Given the description of an element on the screen output the (x, y) to click on. 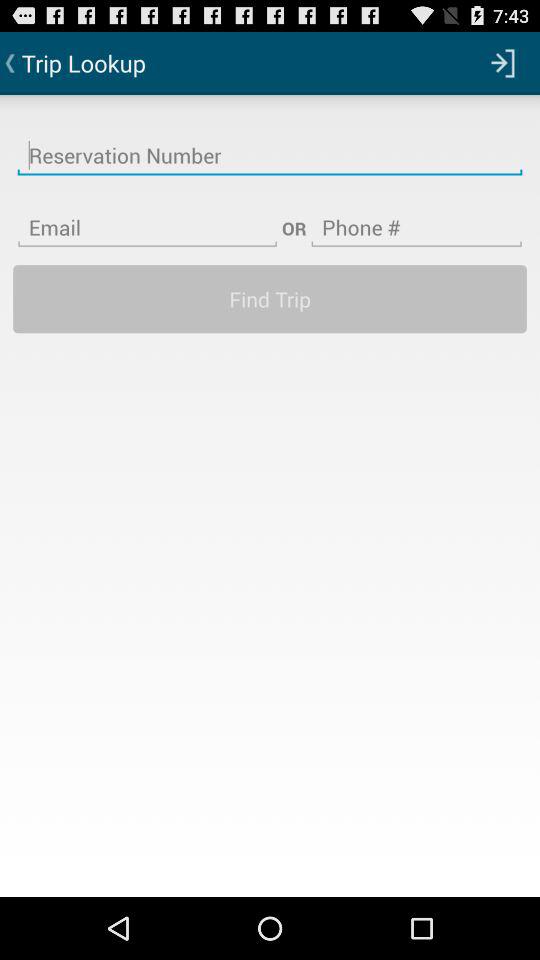
launch the app next to trip lookup app (503, 62)
